Given the description of an element on the screen output the (x, y) to click on. 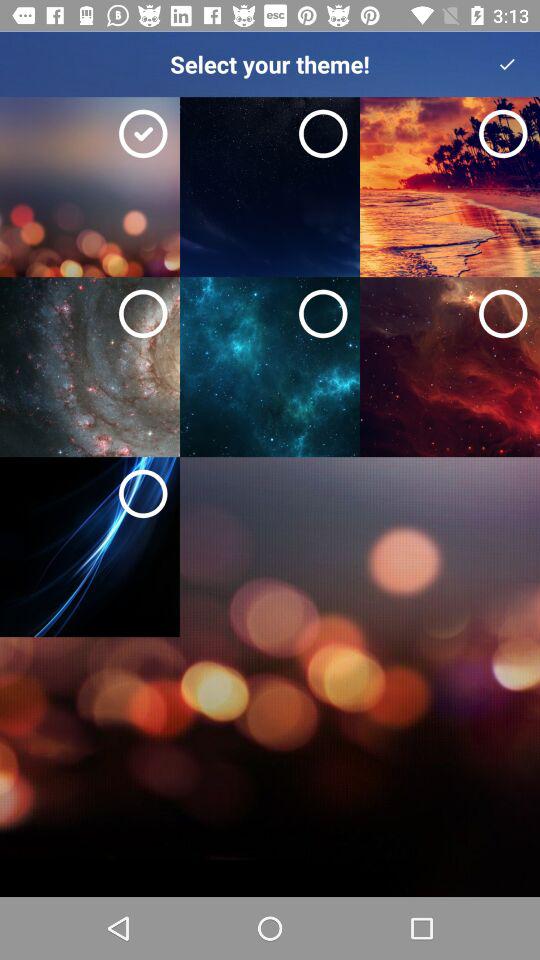
confirm selection (507, 64)
